Given the description of an element on the screen output the (x, y) to click on. 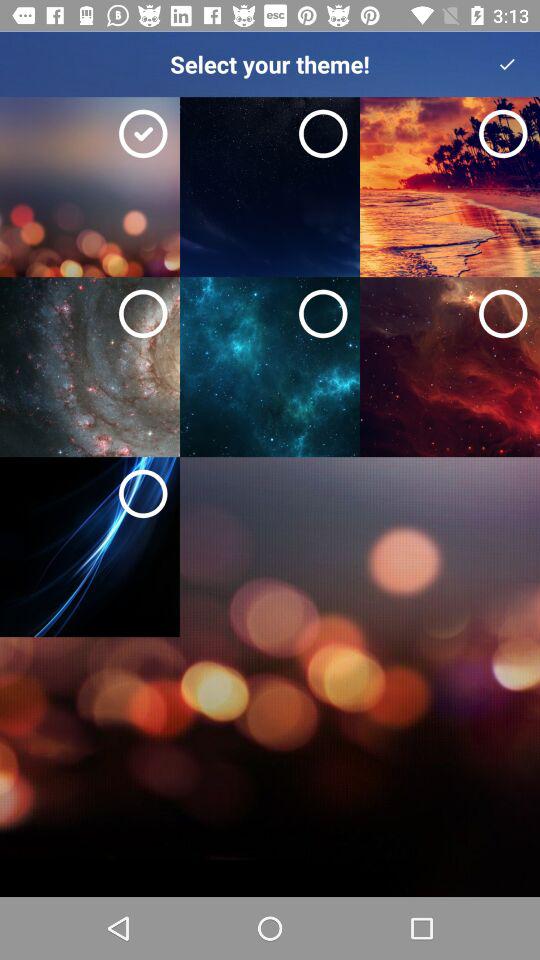
confirm selection (507, 64)
